Given the description of an element on the screen output the (x, y) to click on. 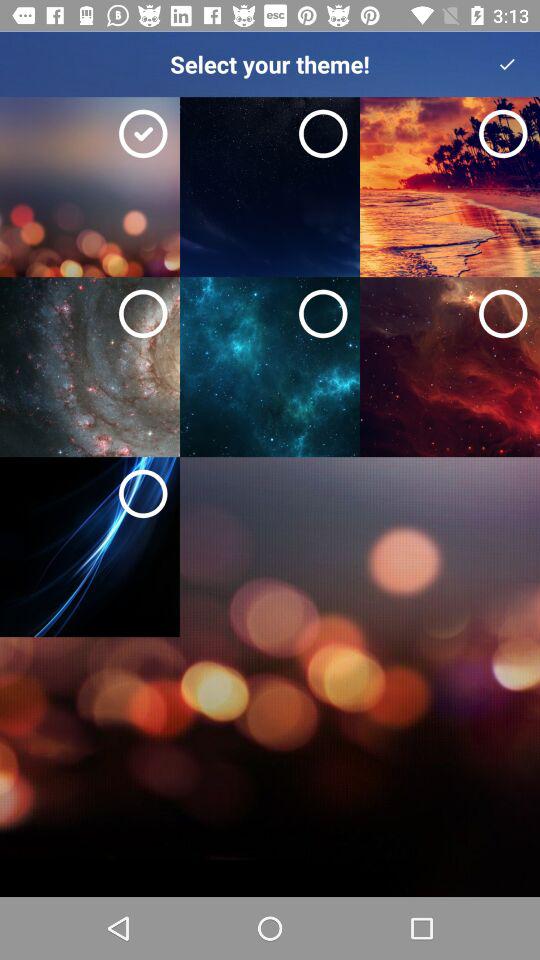
confirm selection (507, 64)
